Given the description of an element on the screen output the (x, y) to click on. 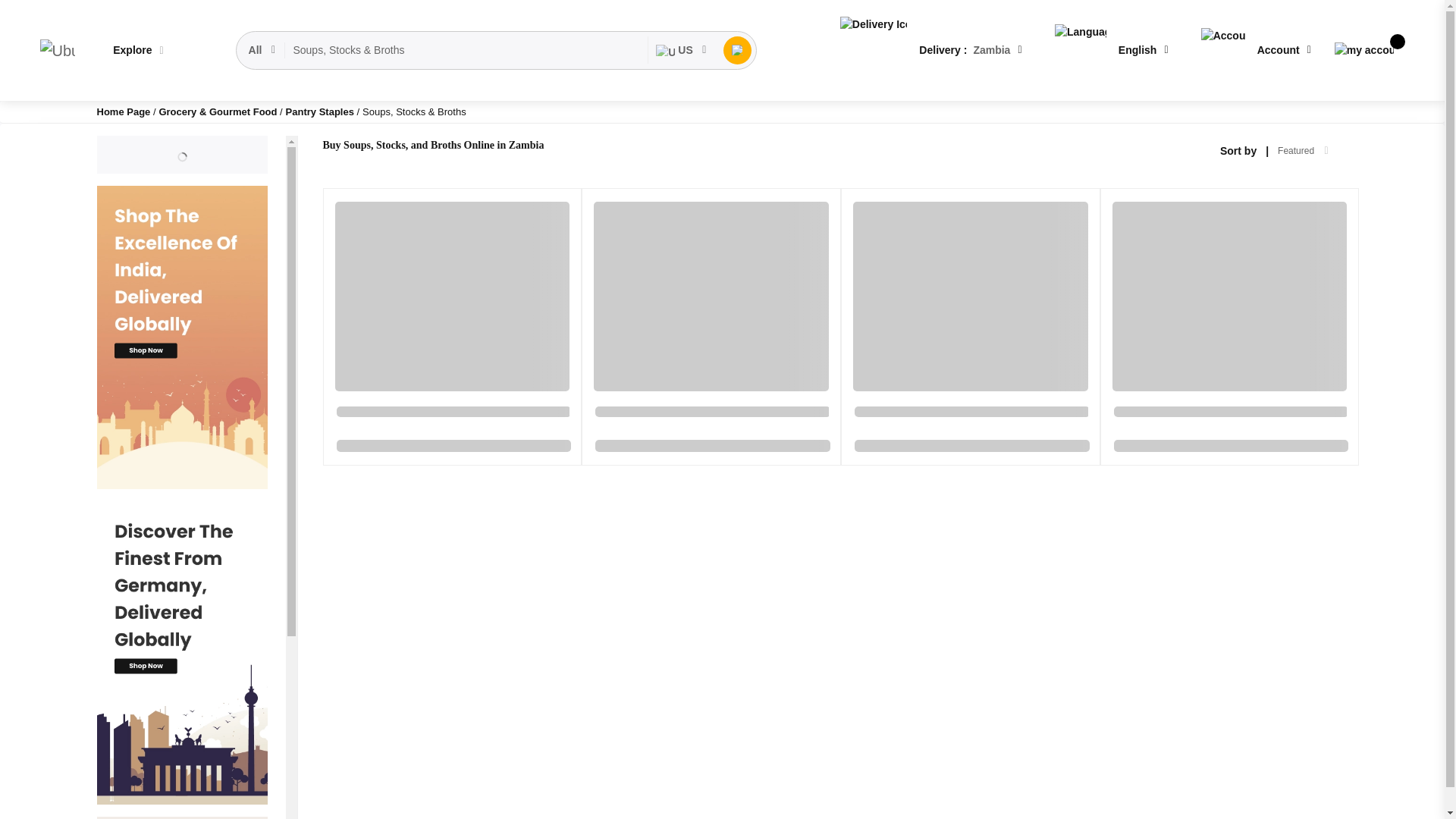
US (680, 50)
Cart (1364, 49)
Home Page (124, 111)
All (263, 50)
Ubuy (57, 50)
Home Page (124, 111)
